Given the description of an element on the screen output the (x, y) to click on. 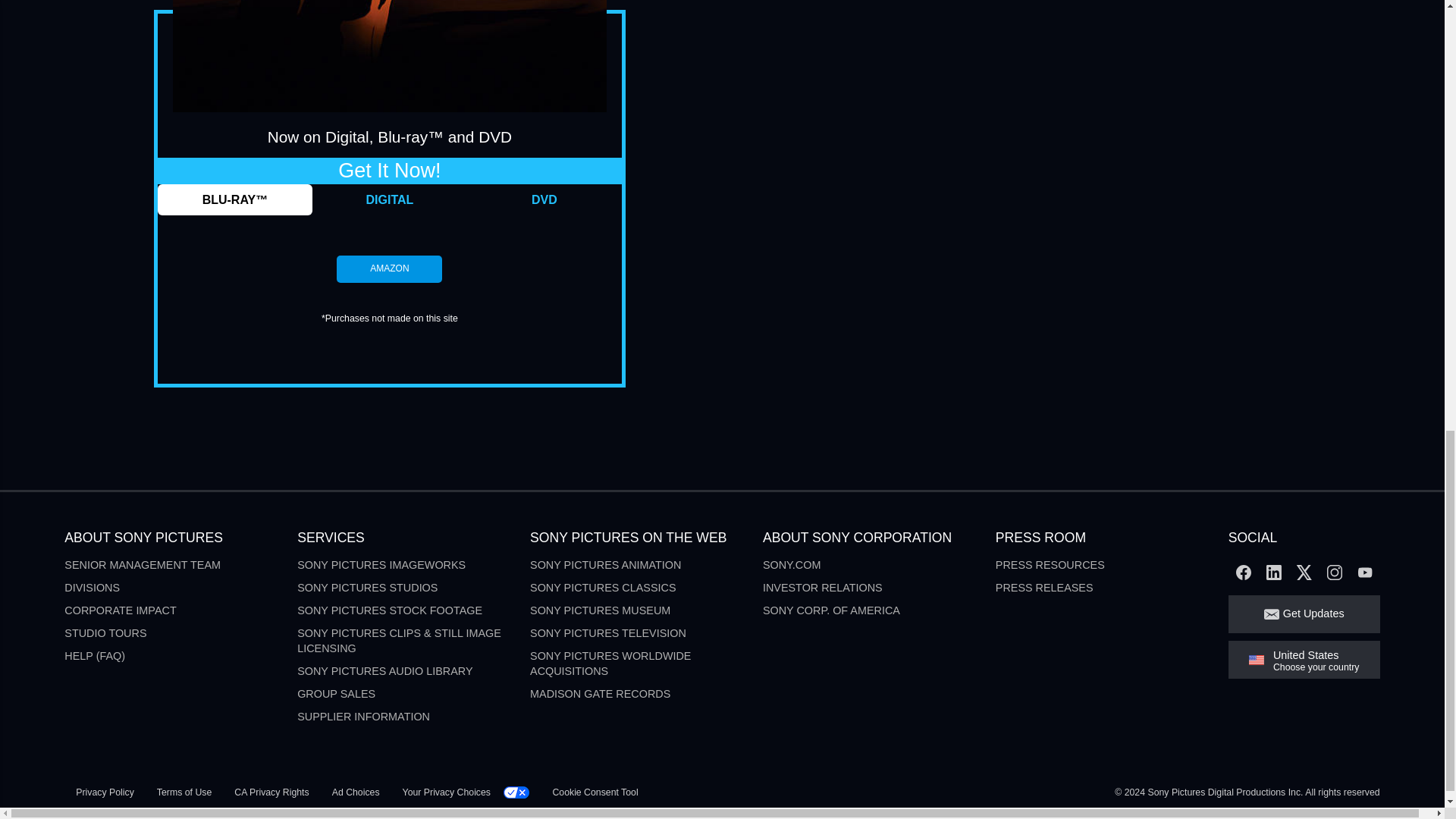
GROUP SALES (336, 693)
SONY PICTURES IMAGEWORKS (381, 564)
STUDIO TOURS (105, 633)
WALTZ WITH BASHIR (390, 56)
CORPORATE IMPACT (120, 610)
AMAZON (389, 268)
SONY PICTURES STUDIOS (367, 587)
DIVISIONS (91, 587)
SONY PICTURES AUDIO LIBRARY (384, 671)
DVD (544, 199)
SENIOR MANAGEMENT TEAM (142, 564)
DIGITAL (390, 199)
Madison Gate Records (599, 693)
SONY PICTURES STOCK FOOTAGE (389, 610)
